Given the description of an element on the screen output the (x, y) to click on. 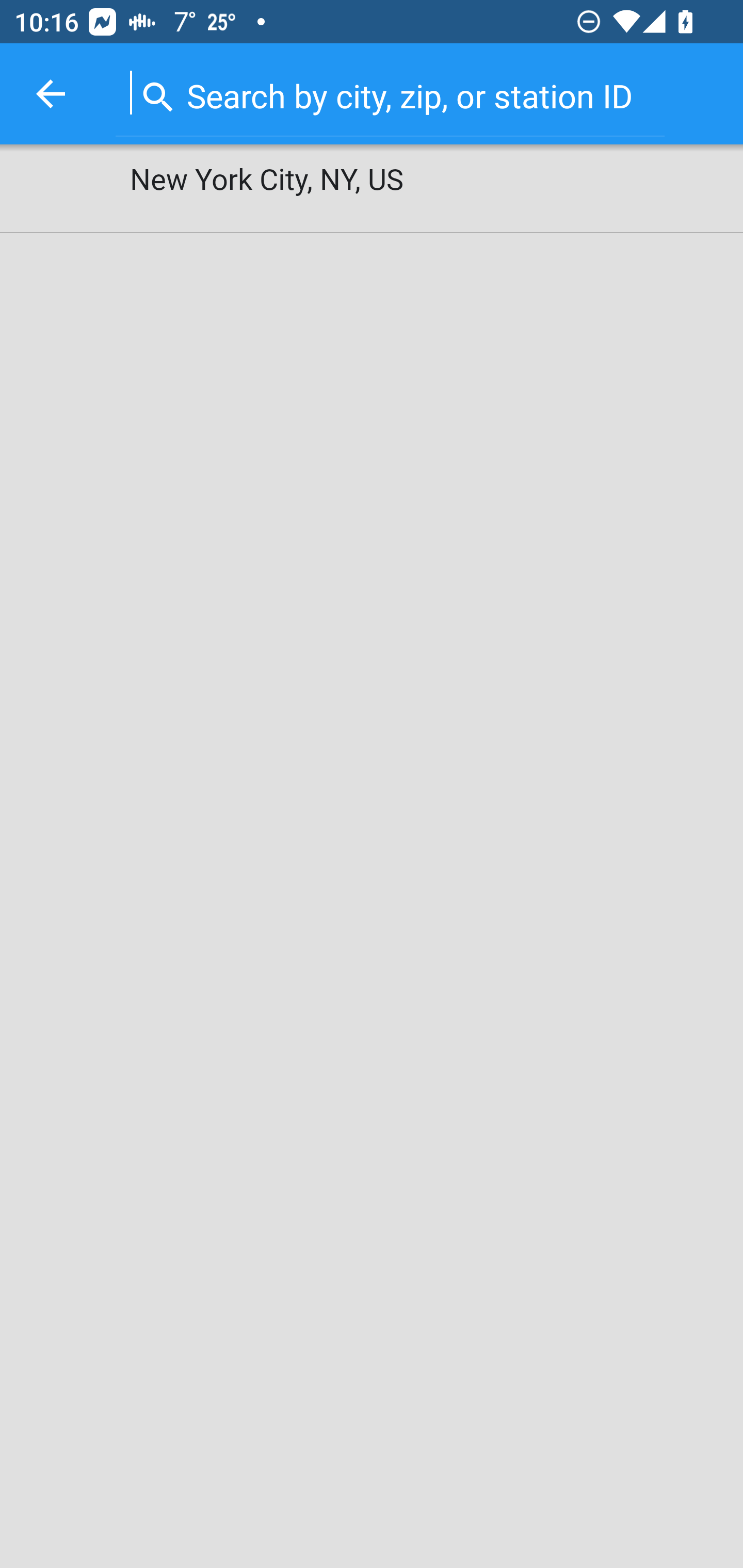
back (50, 93)
   Search by city, zip, or station ID (389, 92)
New York City, NY, US (371, 188)
